Given the description of an element on the screen output the (x, y) to click on. 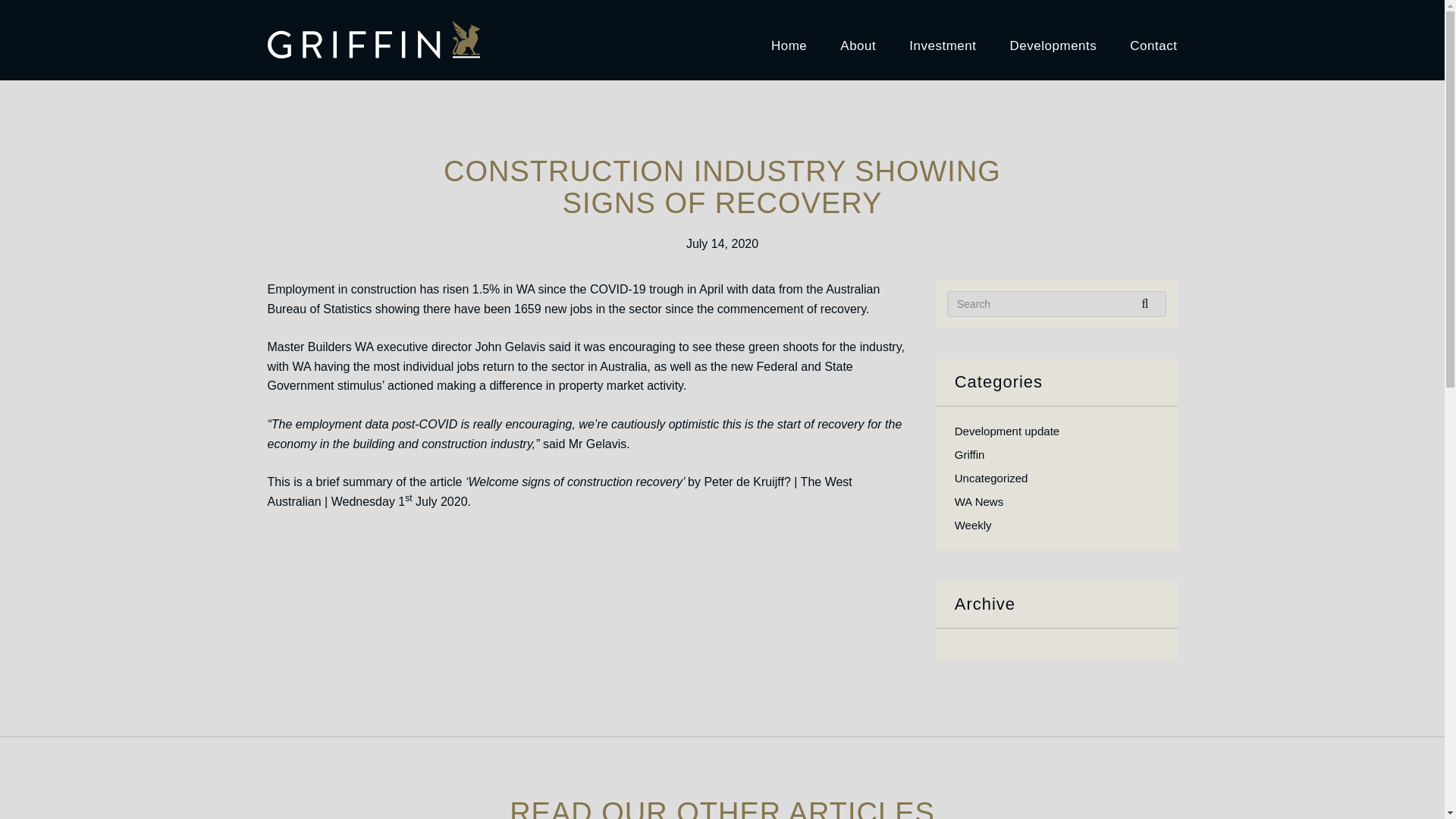
Development update (1007, 431)
Contact (1152, 39)
Griffin (970, 454)
Uncategorized (991, 477)
Search (1150, 303)
Investment (941, 39)
Developments (1053, 39)
Home (788, 39)
Weekly (973, 524)
Type and press Enter to search. (1056, 304)
WA News (979, 501)
About (858, 39)
